Given the description of an element on the screen output the (x, y) to click on. 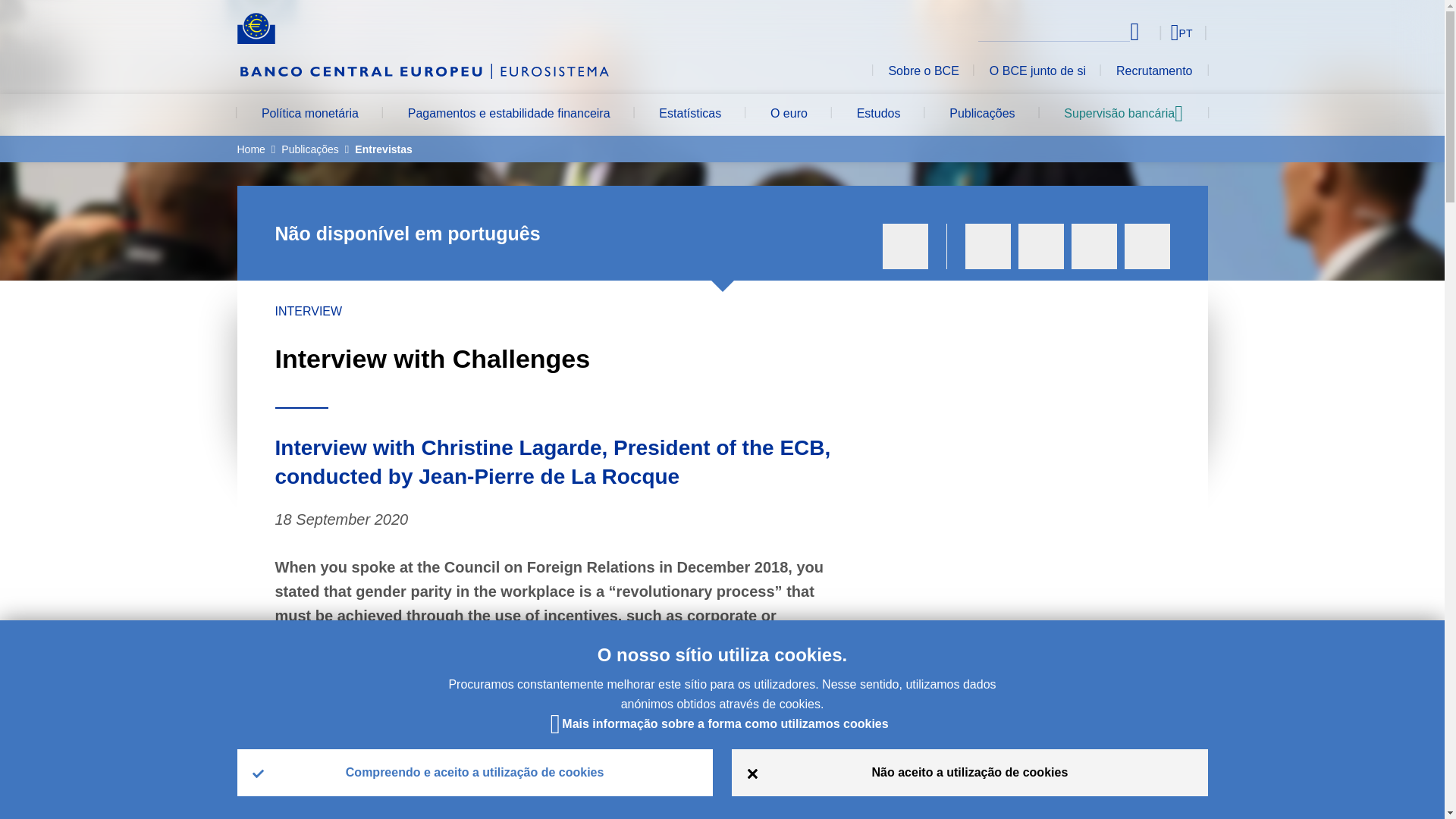
Select language (1153, 32)
